Given the description of an element on the screen output the (x, y) to click on. 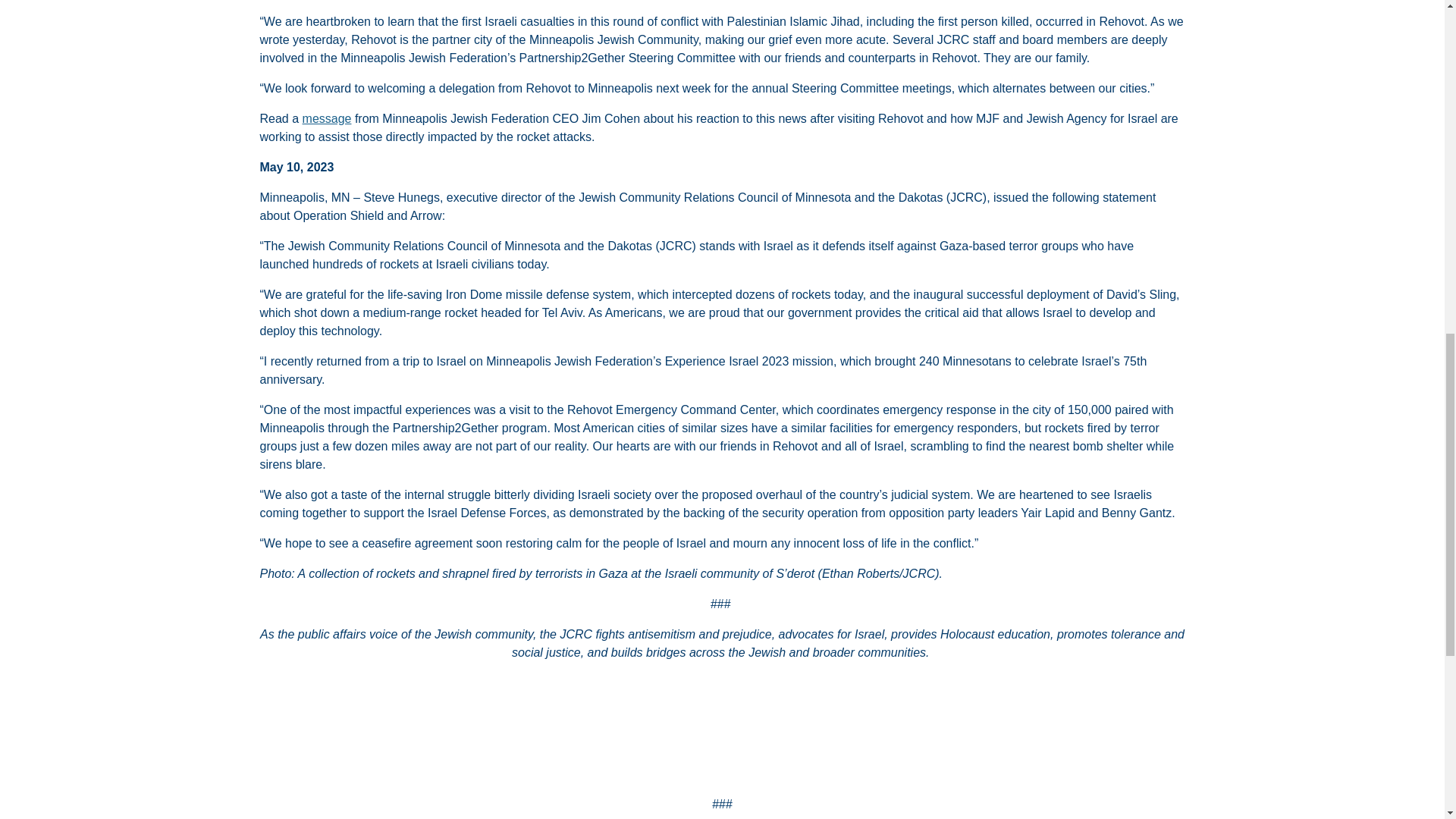
message (327, 118)
